Given the description of an element on the screen output the (x, y) to click on. 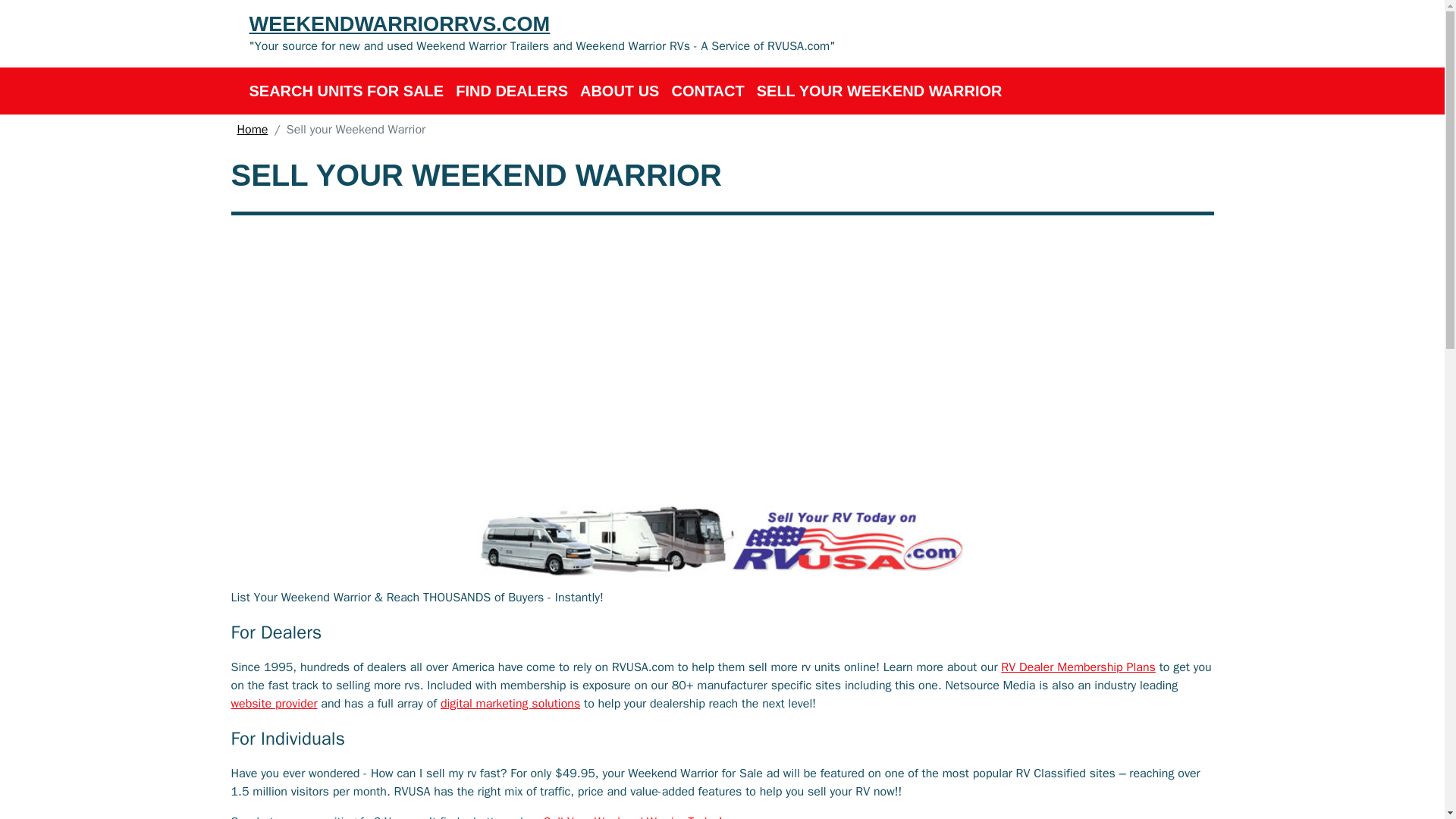
home (251, 129)
RV Dealer Membership Plans (1078, 667)
Sell your Weekend Warrior Faster on RVUSA (721, 540)
Weekend Warrior RVs for sale (346, 90)
CONTACT (707, 90)
Home (251, 129)
SELL YOUR WEEKEND WARRIOR (880, 90)
ABOUT US (619, 90)
Help me sell my Weekend Warrior RV! (880, 90)
Sell Your Weekend Warrior Today! (632, 816)
digital marketing solutions (510, 703)
website provider (273, 703)
FIND DEALERS (511, 90)
WEEKENDWARRIORRVS.COM (541, 24)
Weekend Warrior Dealers (511, 90)
